Given the description of an element on the screen output the (x, y) to click on. 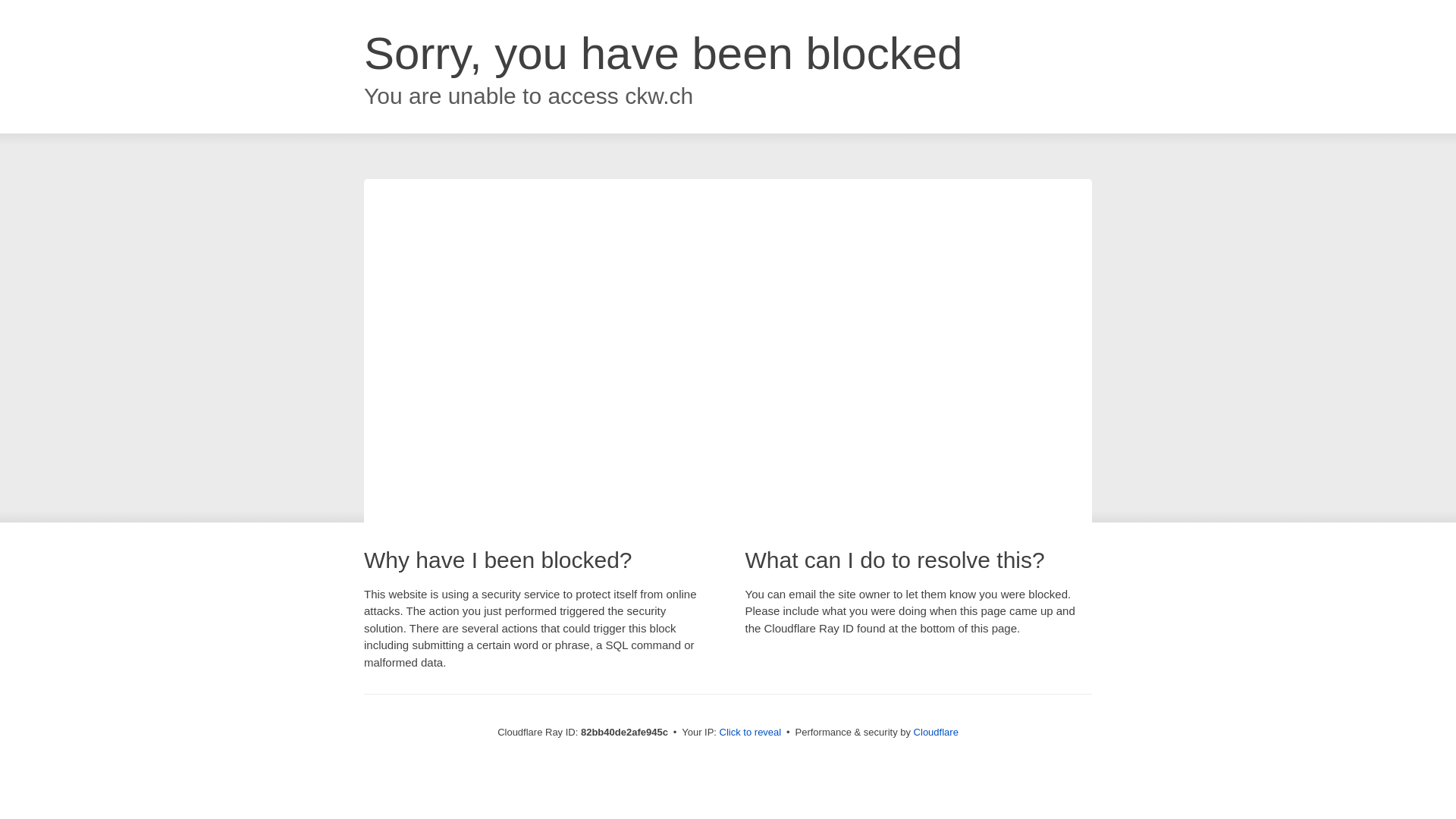
Cloudflare Element type: text (935, 731)
Click to reveal Element type: text (750, 732)
